Given the description of an element on the screen output the (x, y) to click on. 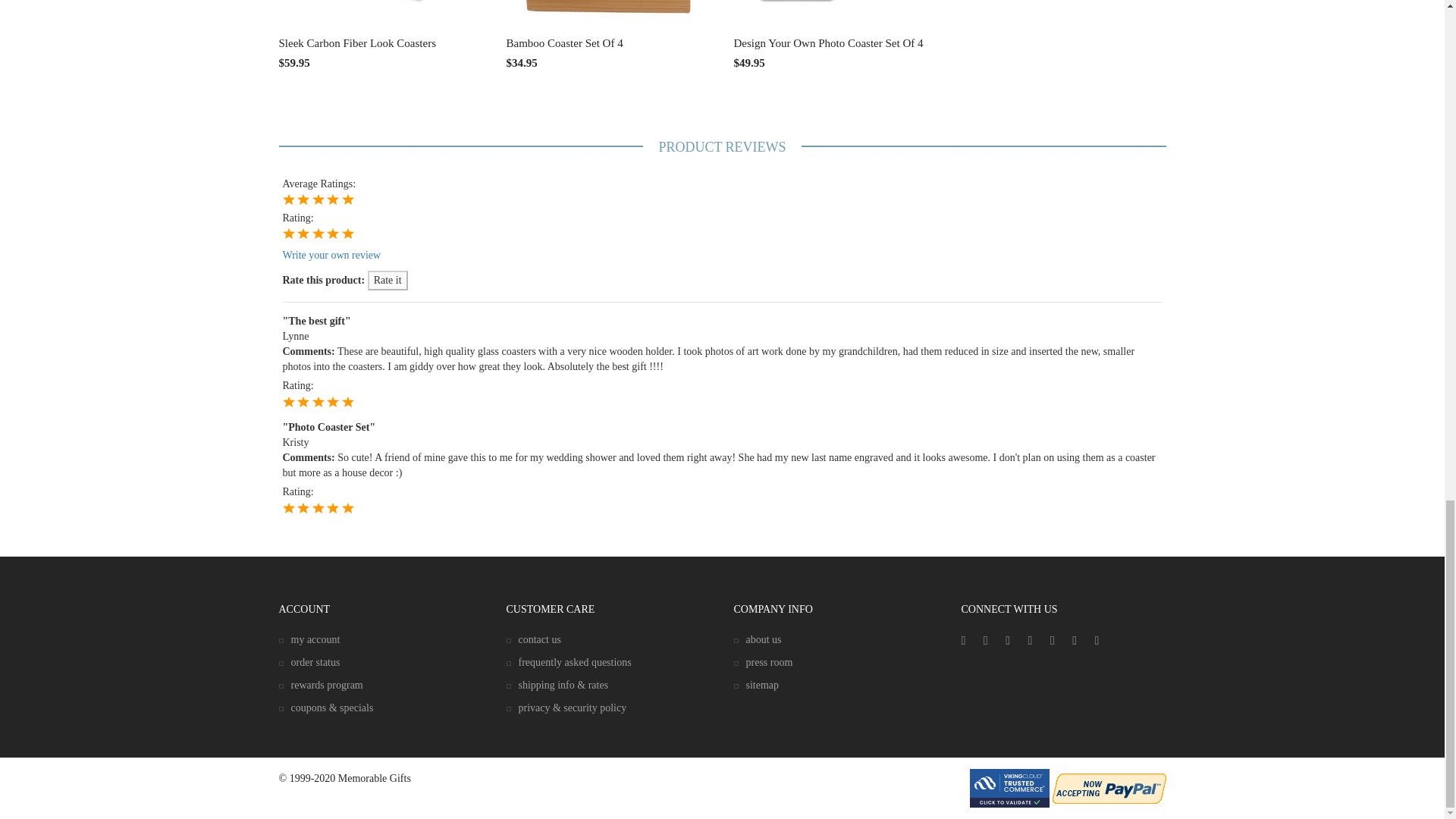
MemorableGifts.com Exclusive Special Offers (326, 707)
Contact Us (533, 639)
Memorable Gifts Sitemap (755, 685)
MemorableGifts.com Press Room (763, 662)
About MemorableGifts.com (757, 639)
This site protected by Trustwave's Trusted Commerce program (1009, 788)
Frequently Asked Questions (568, 662)
Rate it (387, 280)
